Given the description of an element on the screen output the (x, y) to click on. 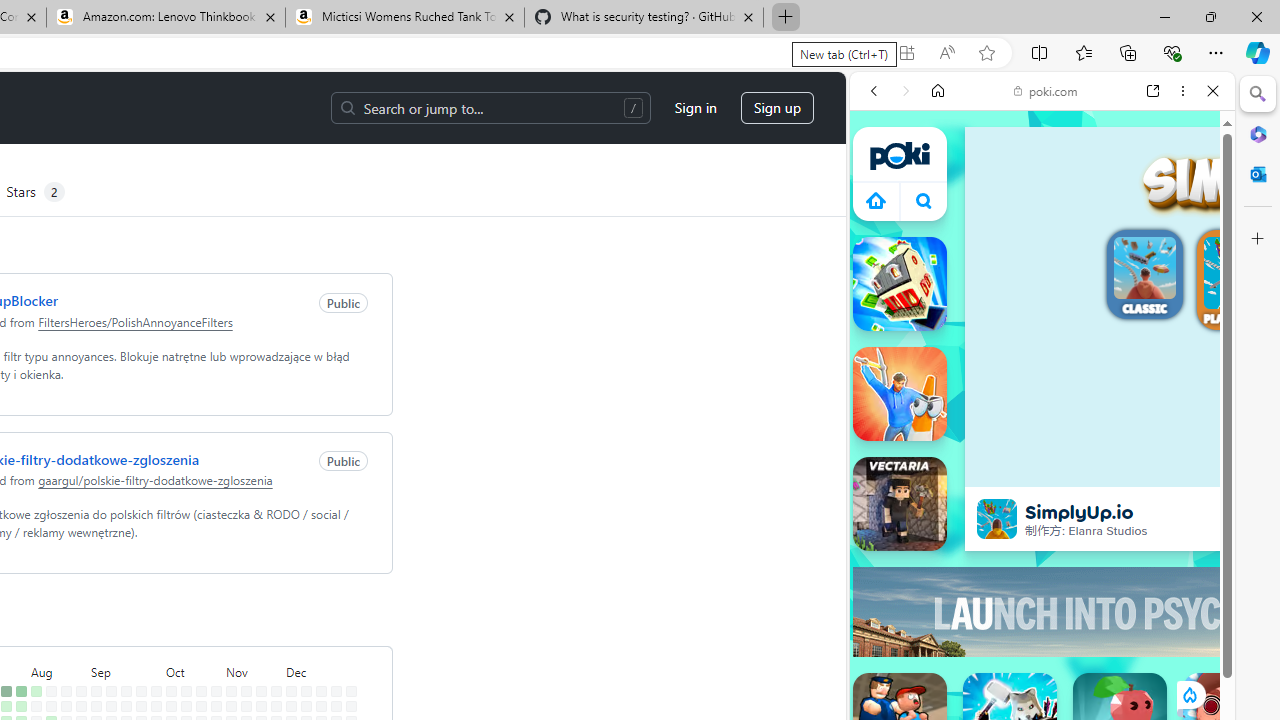
No contributions on August 12th. (51, 706)
Class: B_5ykBA46kDOxiz_R9wm (923, 200)
October (193, 670)
Preferences (1189, 228)
Search Filter, IMAGES (939, 228)
No contributions on September 23rd. (141, 706)
No contributions on August 26th. (81, 706)
___ (879, 577)
Search Filter, WEB (882, 228)
Shooting Games (1042, 519)
